Given the description of an element on the screen output the (x, y) to click on. 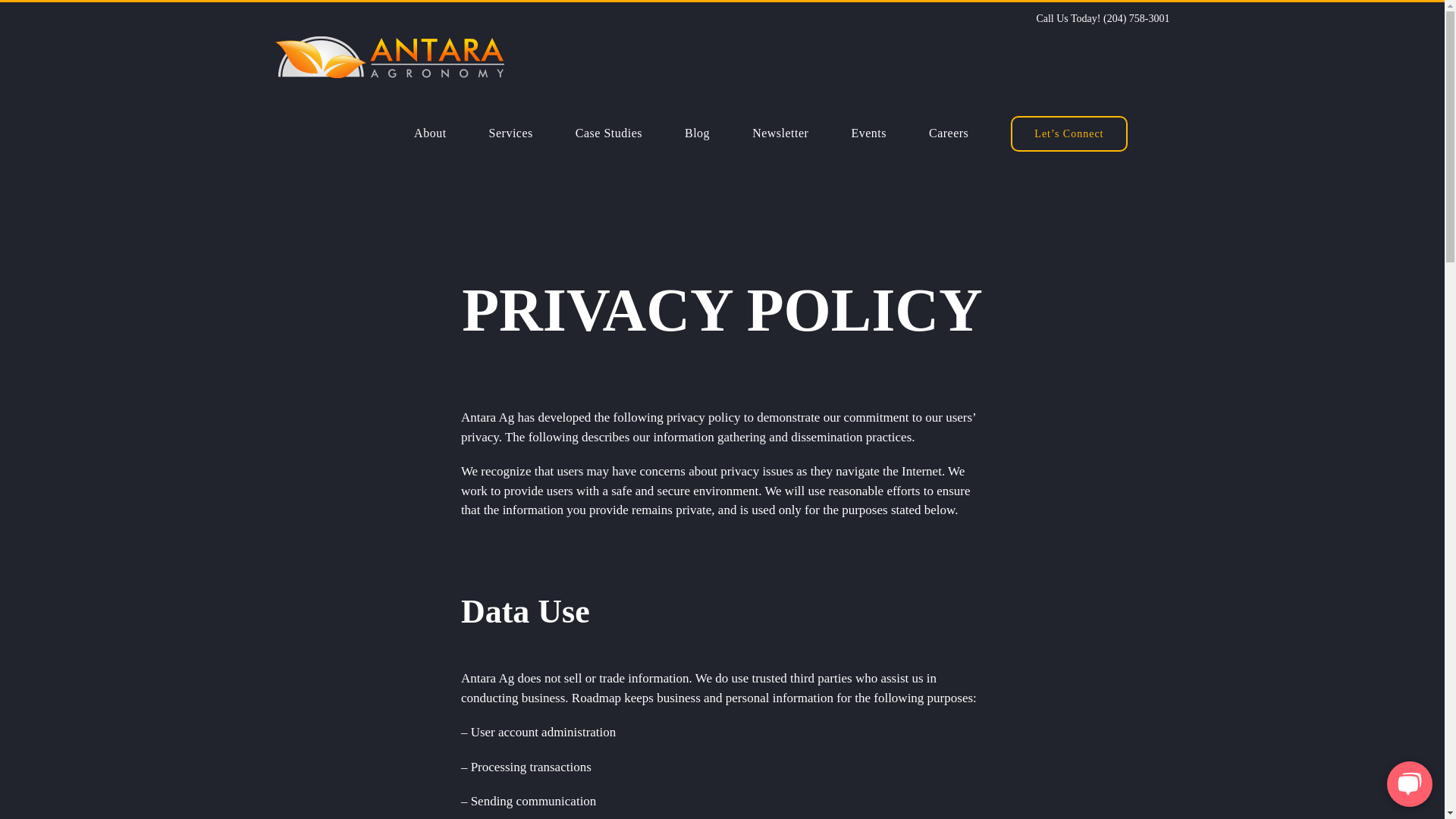
Case Studies Element type: text (608, 133)
Careers Element type: text (948, 133)
Events Element type: text (868, 133)
Blog Element type: text (696, 133)
(204) 758-3001 Element type: text (1136, 18)
Newsletter Element type: text (780, 133)
About Element type: text (430, 133)
Services Element type: text (511, 133)
